Given the description of an element on the screen output the (x, y) to click on. 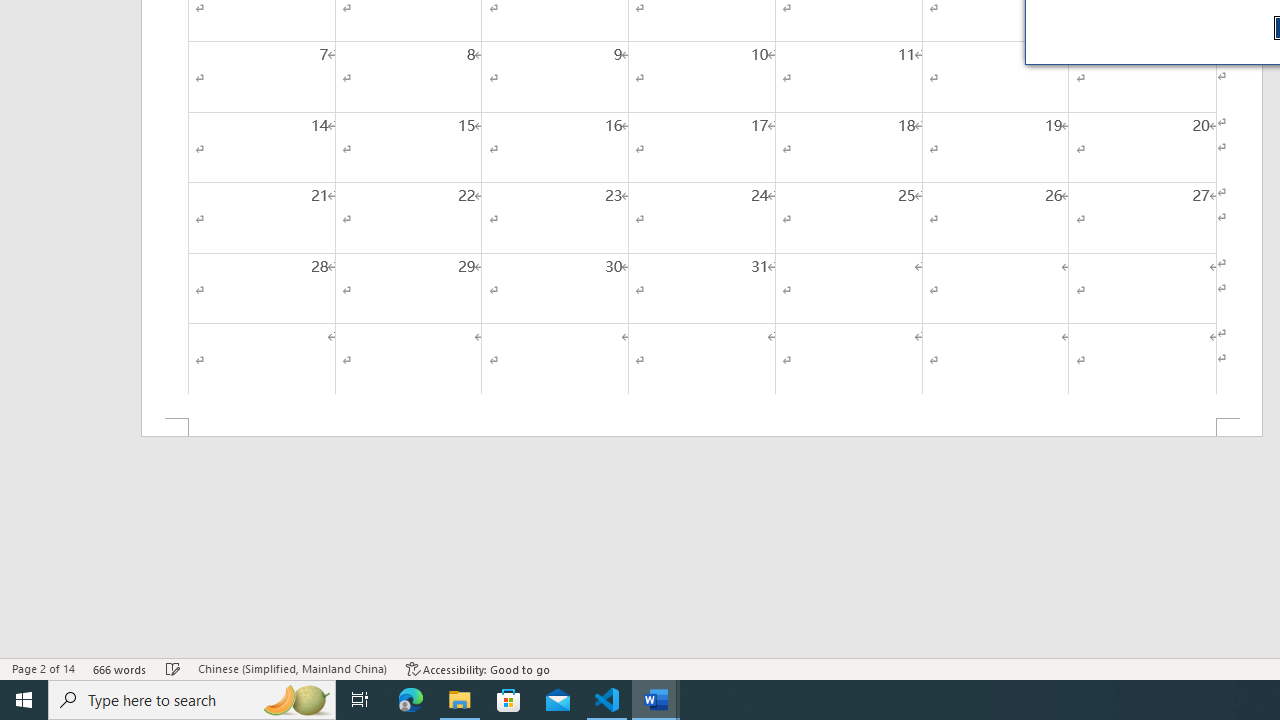
File Explorer - 1 running window (460, 699)
Search highlights icon opens search home window (295, 699)
Microsoft Edge (411, 699)
Language Chinese (Simplified, Mainland China) (292, 668)
Word Count 666 words (119, 668)
Word - 2 running windows (656, 699)
Task View (359, 699)
Visual Studio Code - 1 running window (607, 699)
Footer -Section 1- (701, 427)
Page Number Page 2 of 14 (43, 668)
Type here to search (191, 699)
Microsoft Store (509, 699)
Start (24, 699)
